Given the description of an element on the screen output the (x, y) to click on. 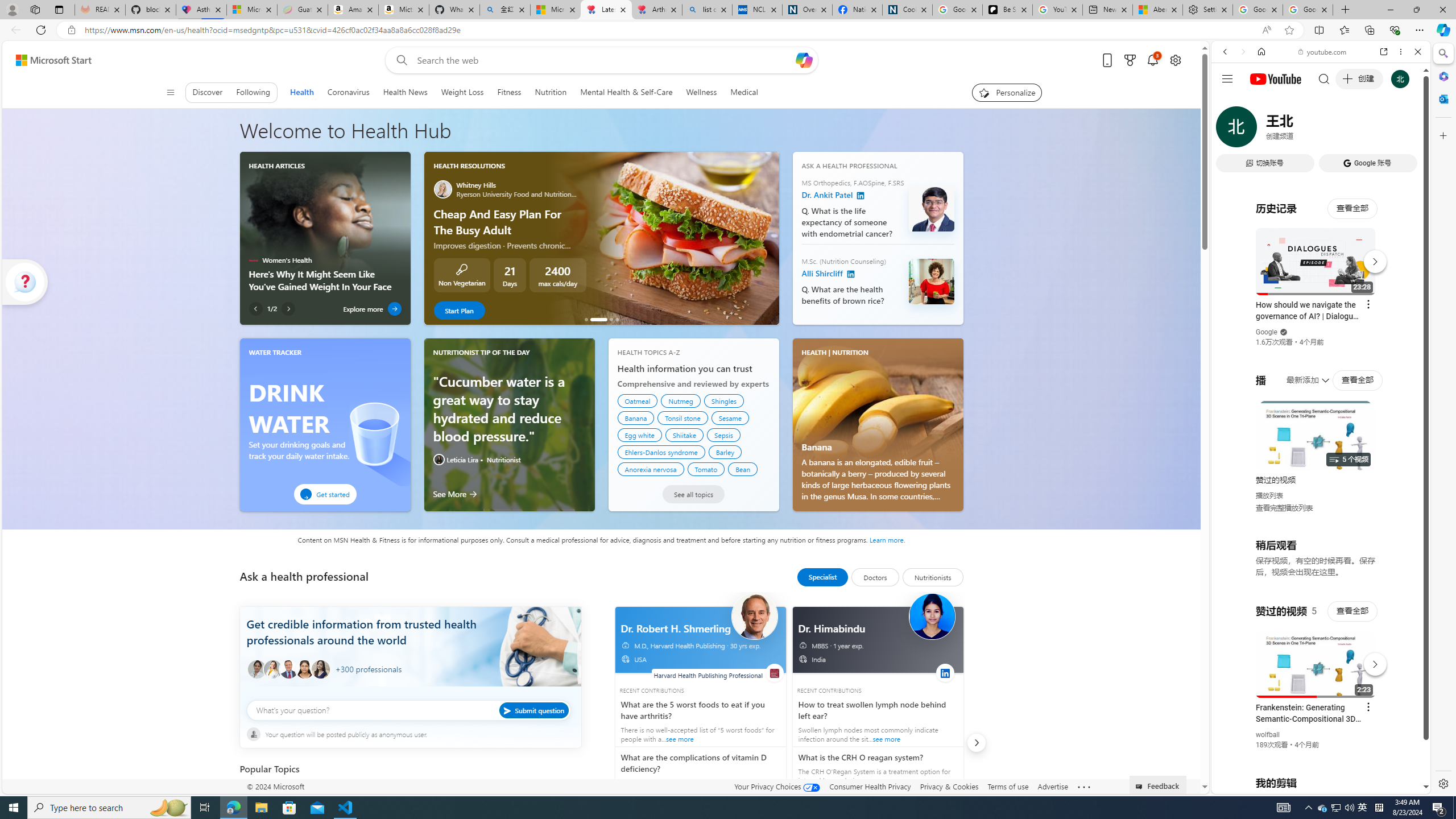
Close Customize pane (1442, 135)
Advertise (1052, 785)
Sepsis (724, 435)
Start Plan (458, 310)
Coronavirus (348, 92)
Trailer #2 [HD] (1320, 336)
Pictorial representation related to the article (324, 215)
